Given the description of an element on the screen output the (x, y) to click on. 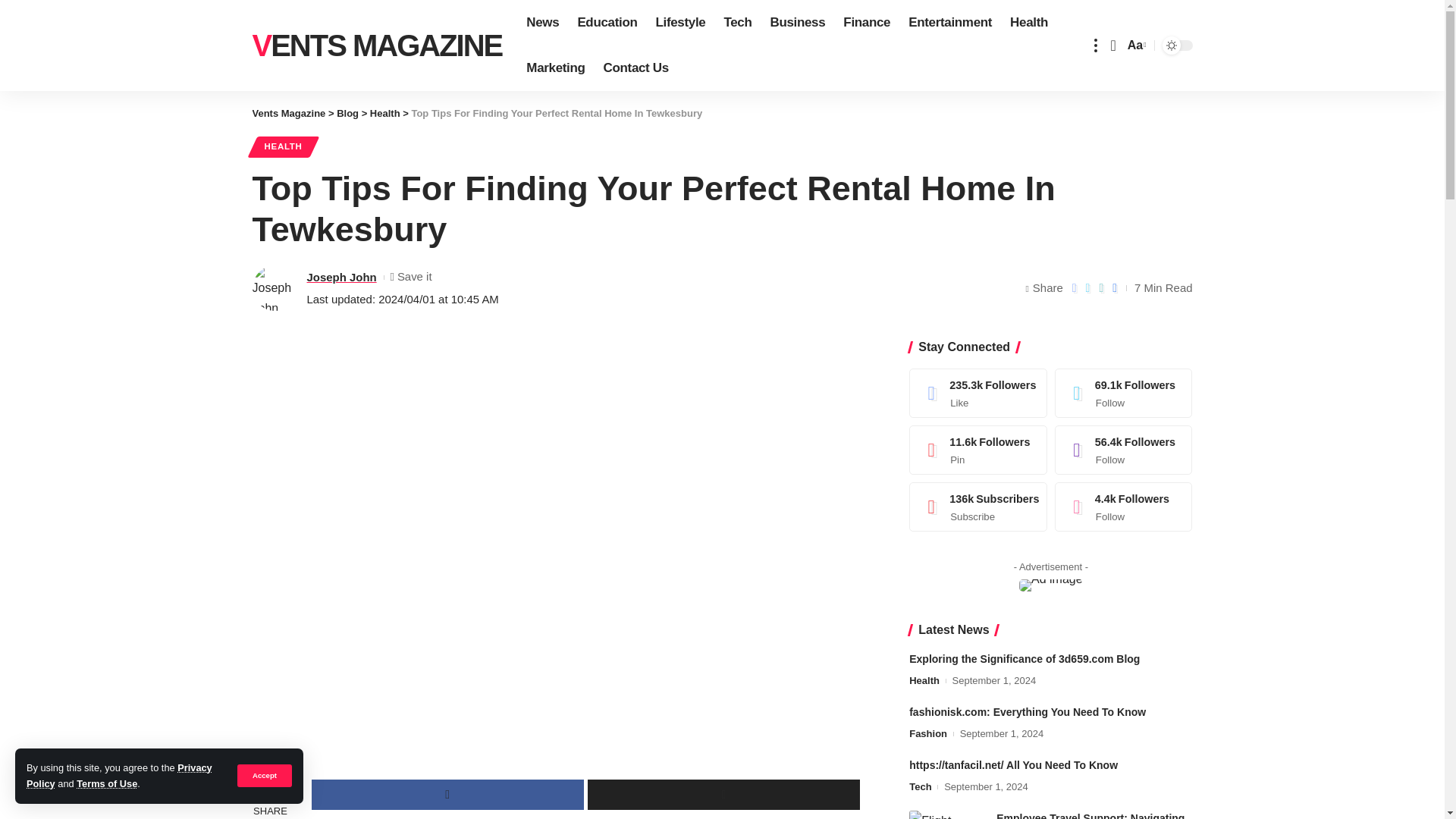
Twitter (1123, 392)
Go to the Health Category archives. (384, 112)
Privacy Policy (119, 775)
Contact Us (636, 67)
Entertainment (950, 22)
Instagram (1123, 449)
Pinterest (978, 449)
Dribbble (1123, 506)
Tech (737, 22)
Go to Blog. (347, 112)
